Given the description of an element on the screen output the (x, y) to click on. 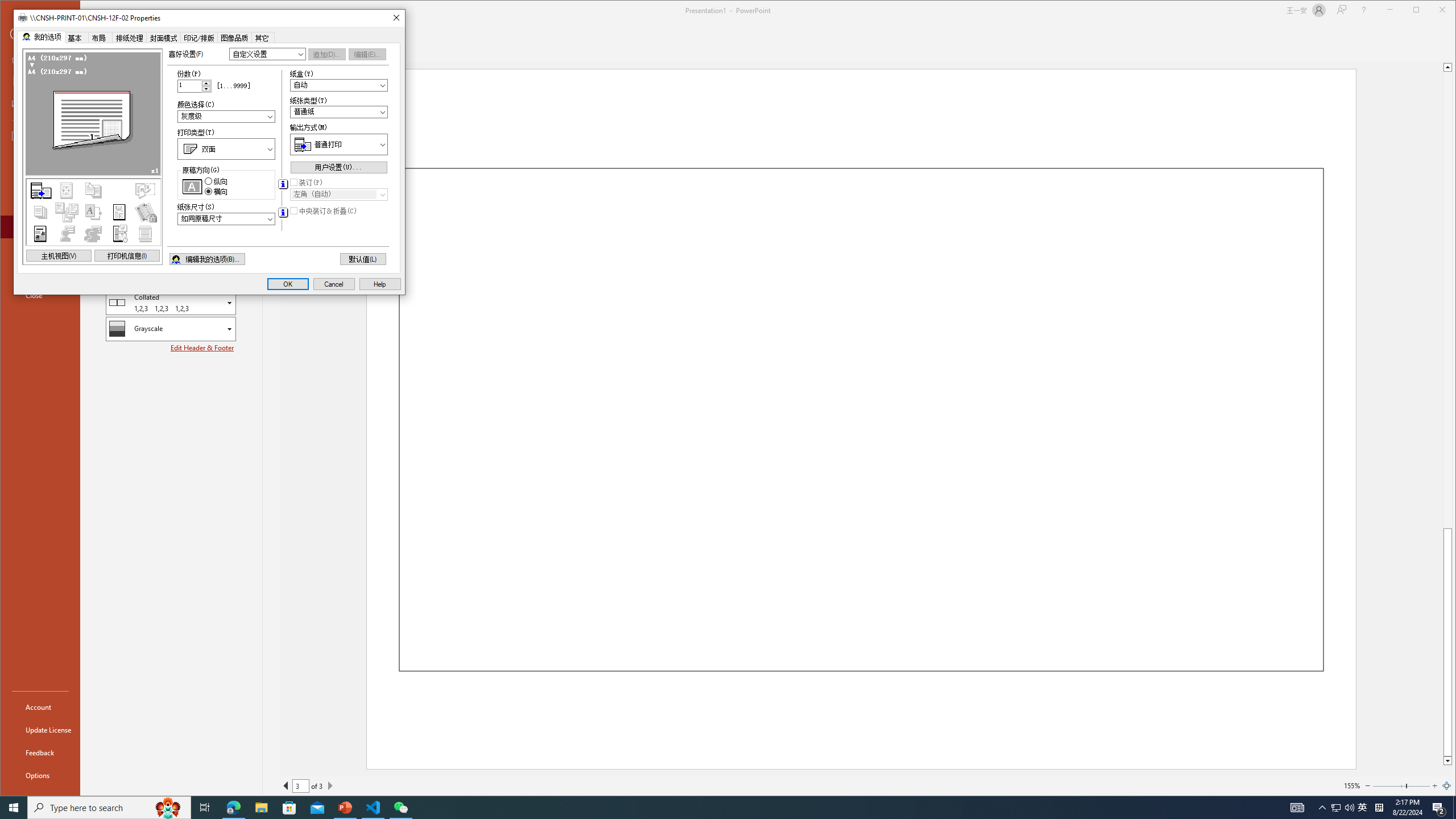
AutomationID: 1047 (338, 194)
AutomationID: 2200 (282, 212)
AutomationID: 1833 (226, 116)
Account (1362, 807)
Zoom to Page (40, 706)
Action Center, 2 new notifications (1446, 785)
AutomationID: 1012 (1439, 807)
Microsoft Store (205, 85)
Tray Input Indicator - Chinese (Simplified, China) (289, 807)
Current Page (1378, 807)
